Given the description of an element on the screen output the (x, y) to click on. 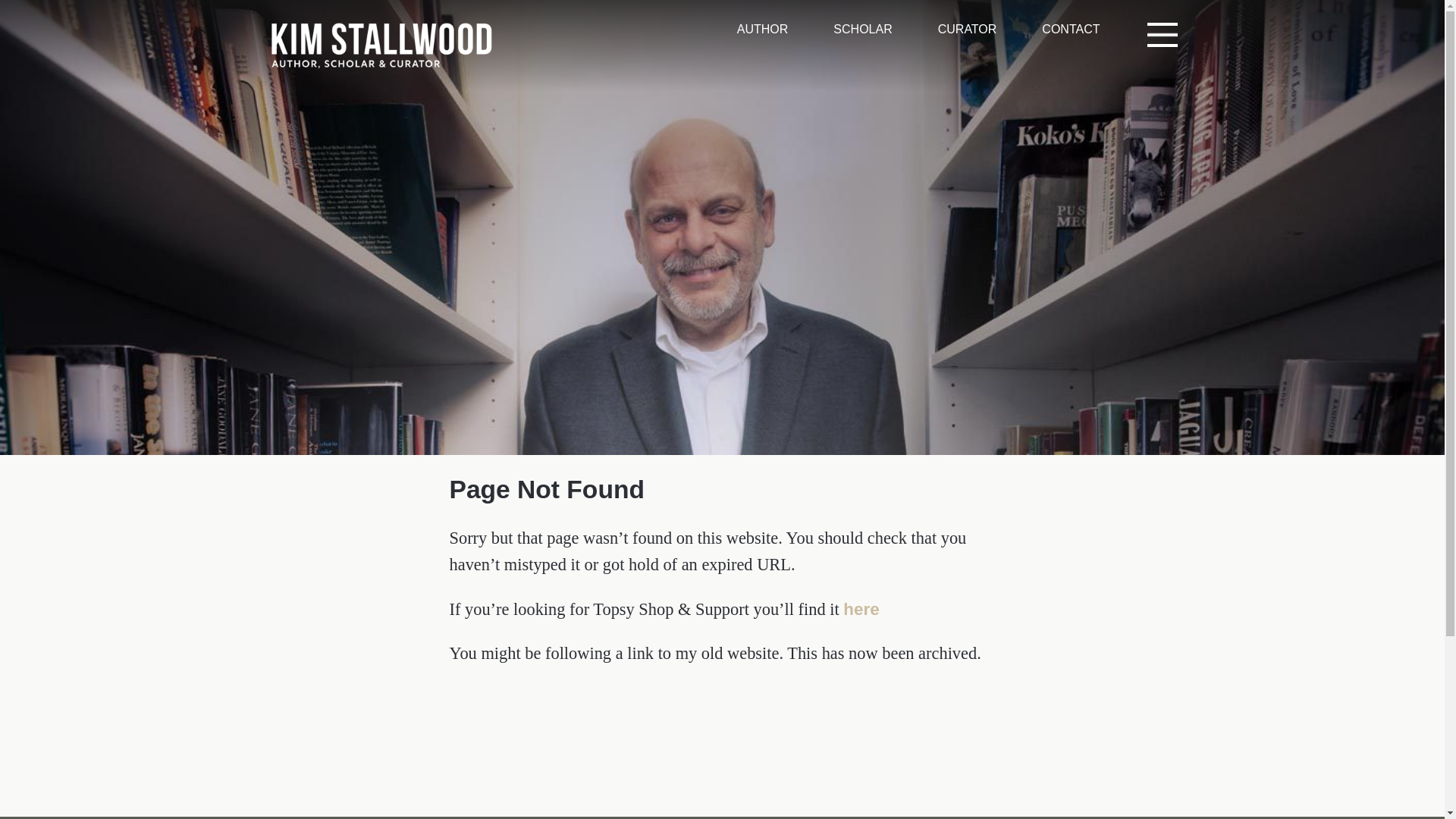
here (861, 609)
CONTACT (1070, 29)
AUTHOR (762, 29)
SCHOLAR (861, 29)
CURATOR (967, 29)
